Given the description of an element on the screen output the (x, y) to click on. 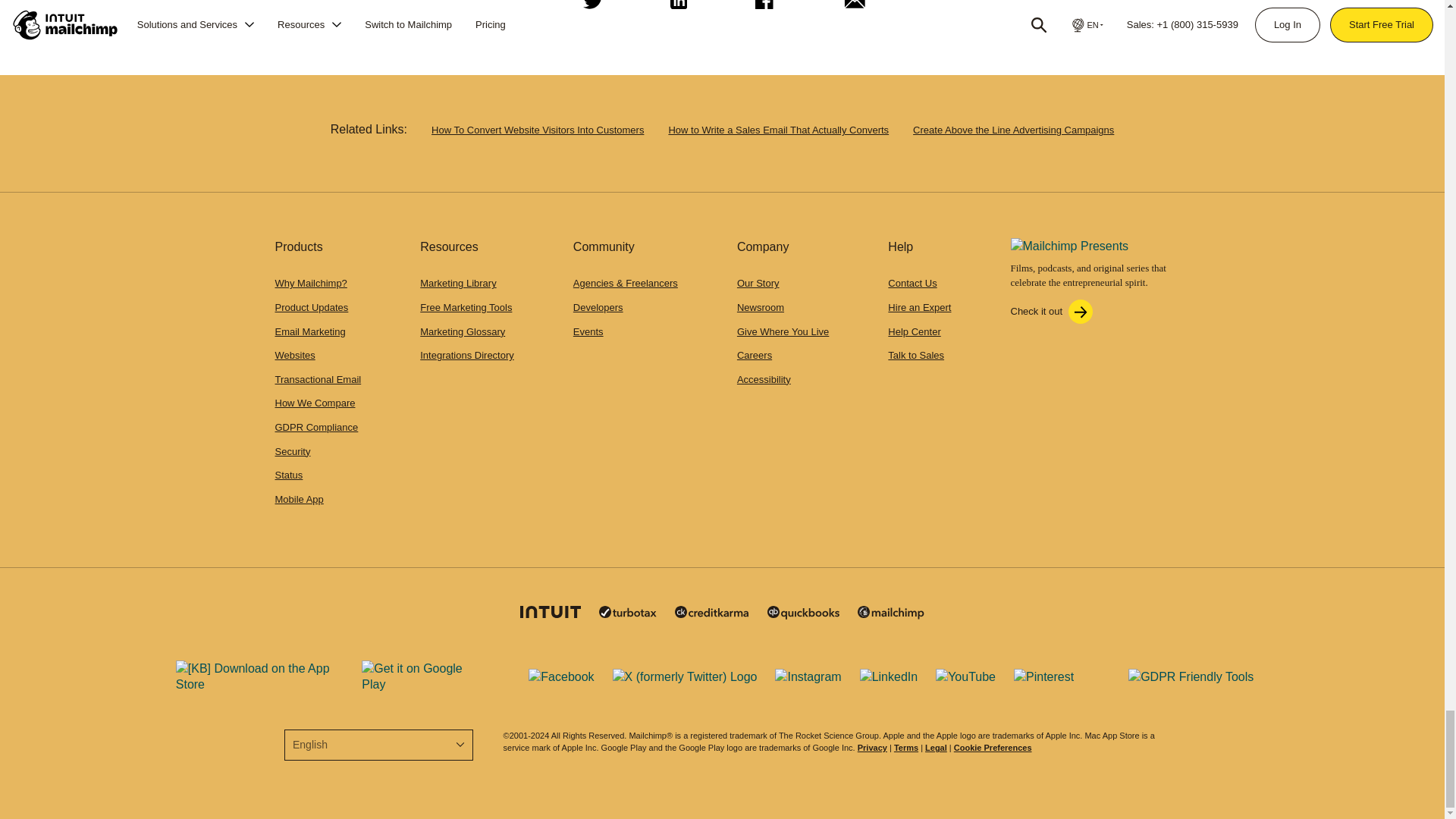
Share this article on Twitter (590, 10)
Share this article on Facebook (762, 10)
Share this article on Linkedin (676, 10)
How To Convert Website Visitors Into Customers (536, 129)
How to Write a Sales Email That Actually Converts (778, 129)
Email this article (850, 10)
